Given the description of an element on the screen output the (x, y) to click on. 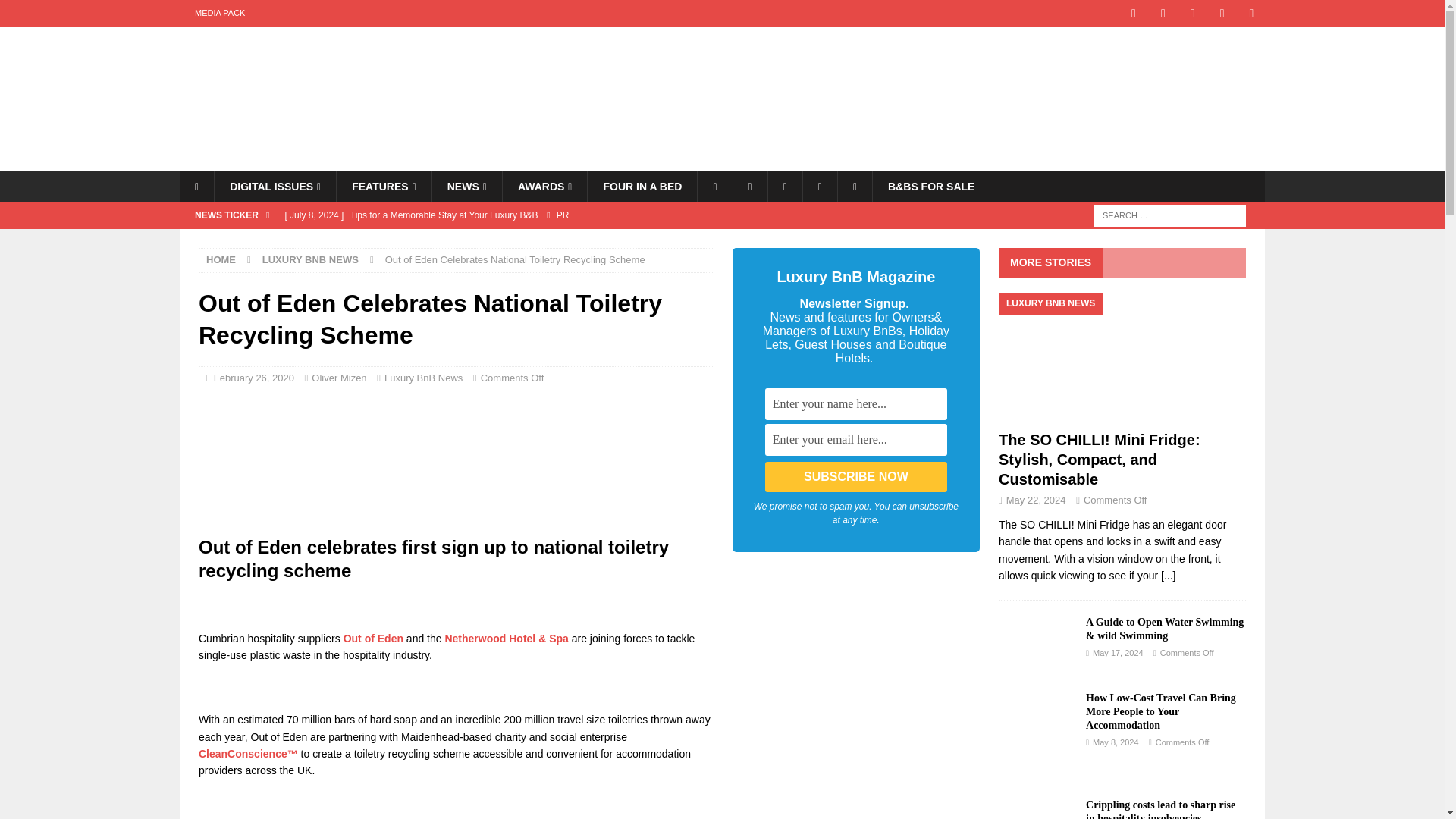
Luxury BnB Magazine News (466, 186)
Luxury BnB Awards (545, 186)
DIGITAL ISSUES (275, 186)
MEDIA PACK (219, 13)
Subscribe Now (856, 476)
FEATURES (383, 186)
Luxury BnB Magazine on LinkedIn (1252, 13)
Facebook (714, 186)
Group Master Shot - Netherwood and OOE (455, 463)
